Given the description of an element on the screen output the (x, y) to click on. 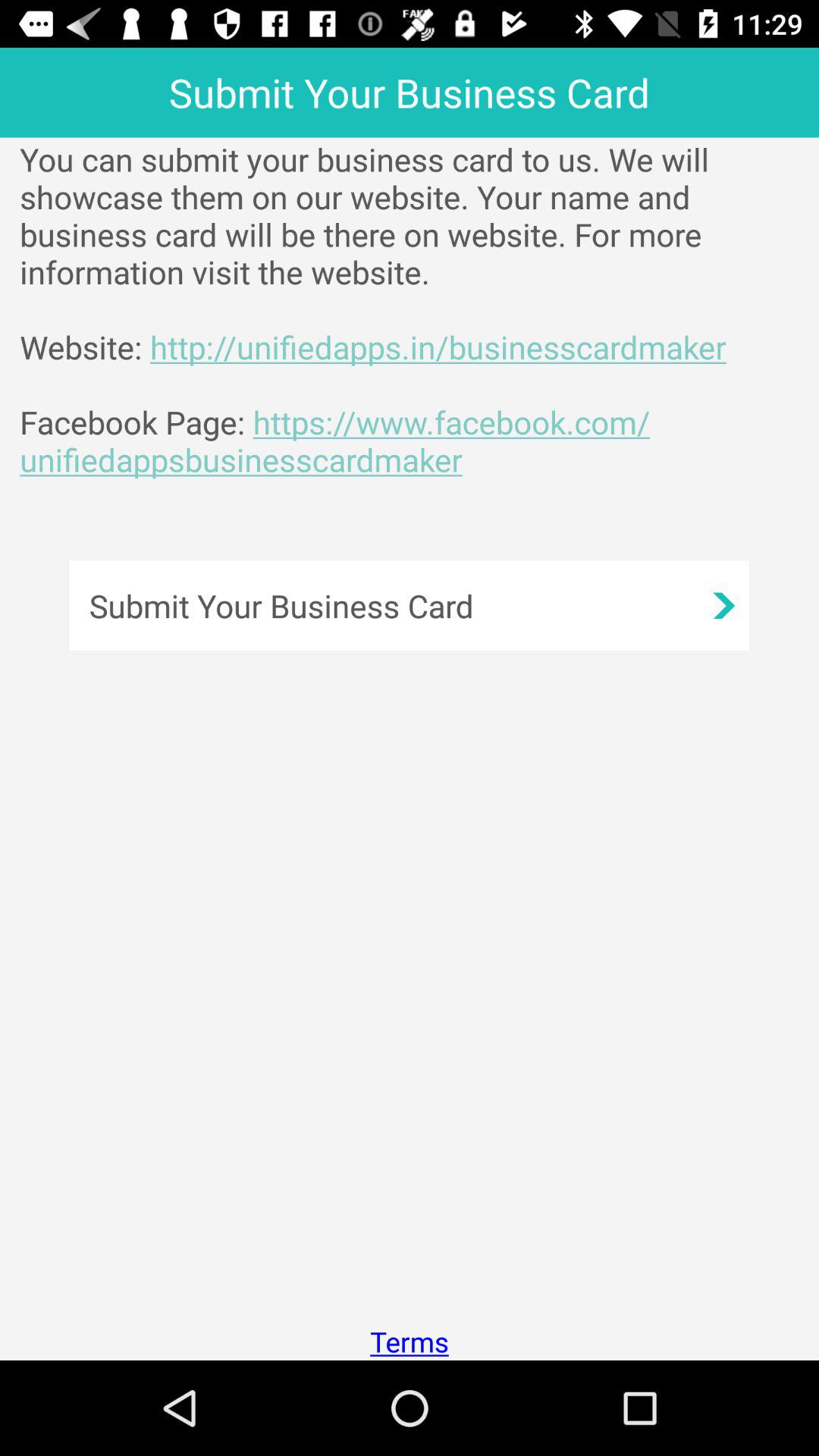
choose the app below the submit your business app (419, 309)
